Given the description of an element on the screen output the (x, y) to click on. 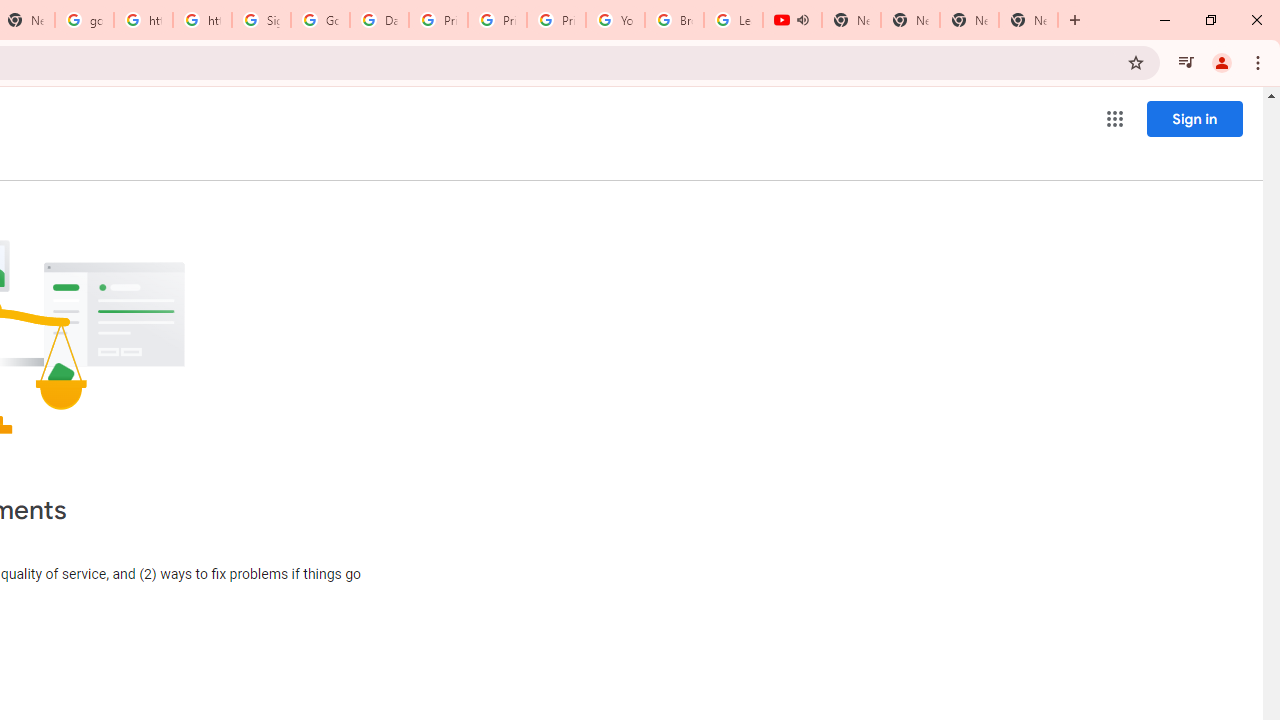
New Tab (1028, 20)
Privacy Help Center - Policies Help (497, 20)
Privacy Help Center - Policies Help (438, 20)
https://scholar.google.com/ (201, 20)
Sign in - Google Accounts (260, 20)
